Given the description of an element on the screen output the (x, y) to click on. 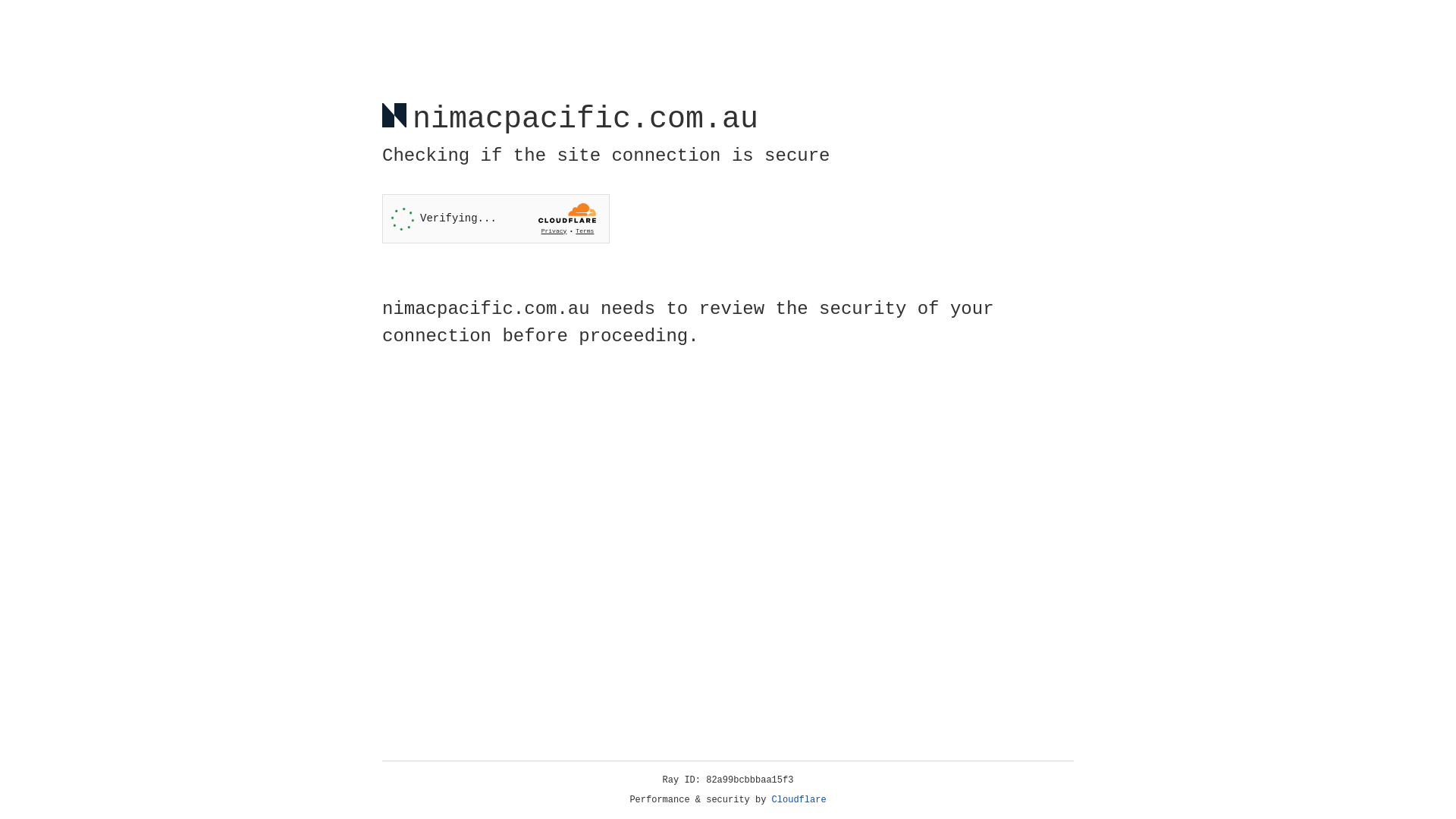
Widget containing a Cloudflare security challenge Element type: hover (495, 218)
Cloudflare Element type: text (798, 799)
